Given the description of an element on the screen output the (x, y) to click on. 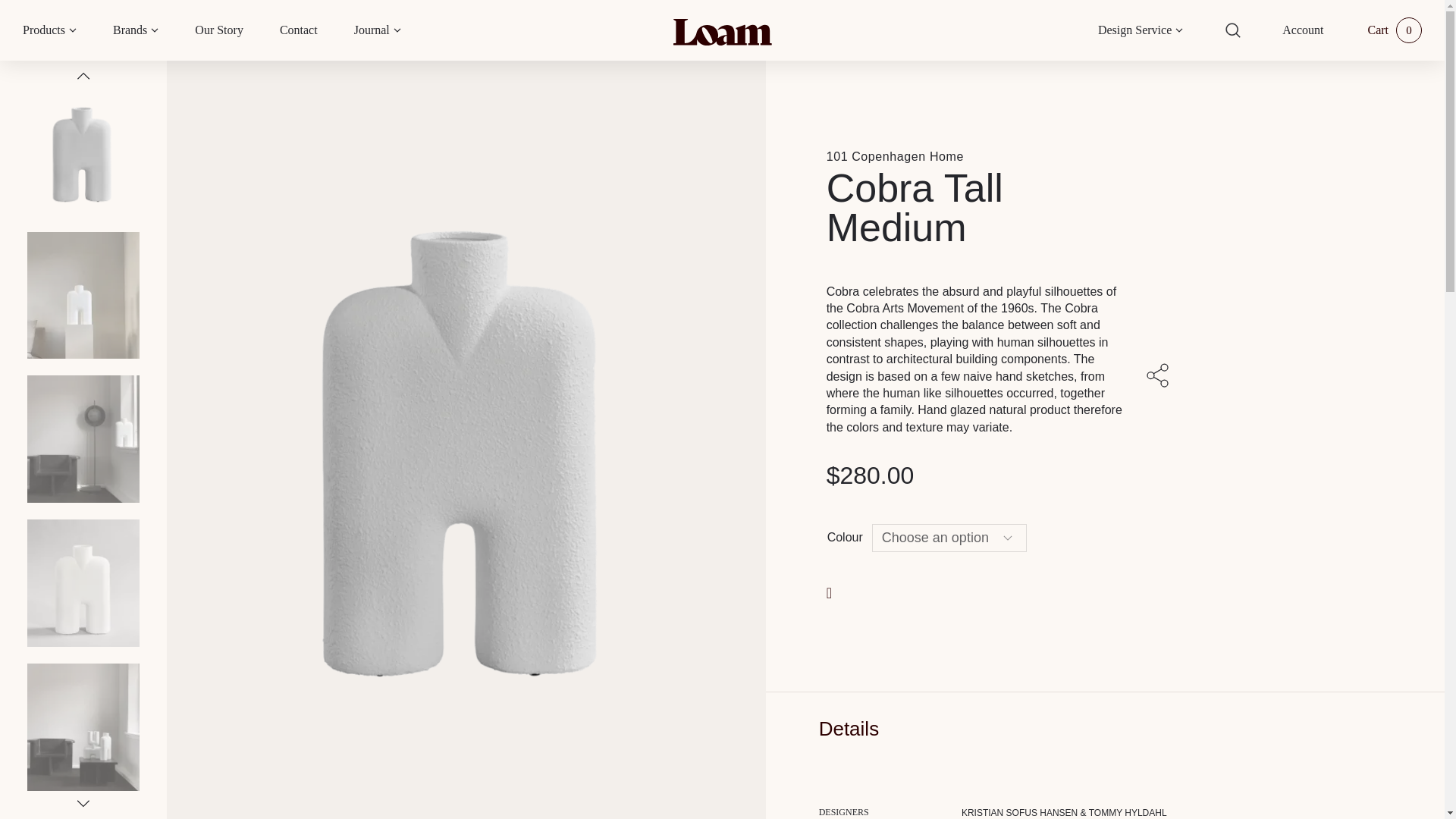
Toggle Menu (72, 29)
